Given the description of an element on the screen output the (x, y) to click on. 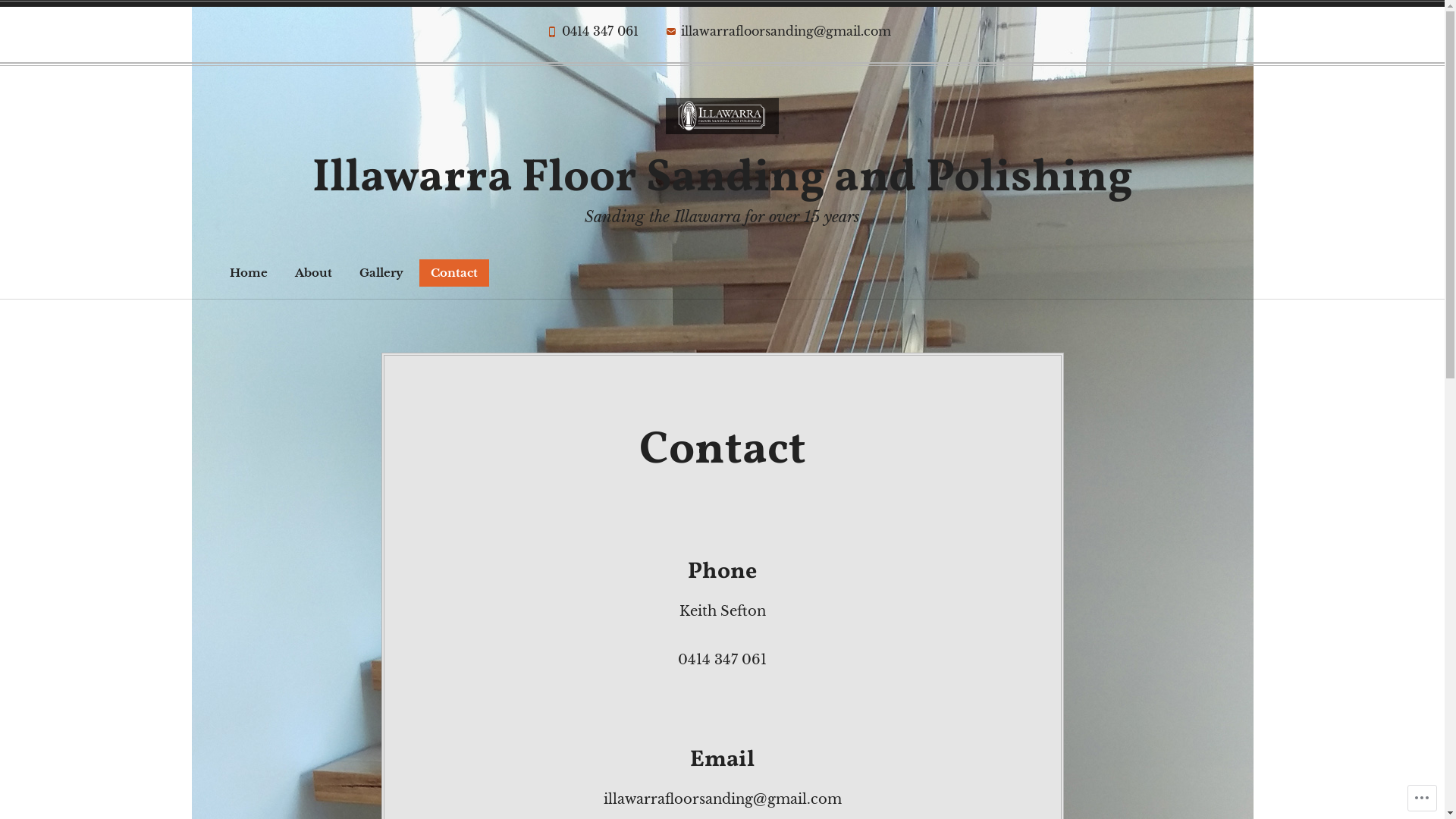
E-mail illawarrafloorsanding@gmail.com Element type: text (777, 34)
Home Element type: text (248, 272)
Phone 0414 347 061 Element type: text (592, 34)
Illawarra Floor Sanding and Polishing Element type: text (722, 178)
Contact Element type: text (453, 272)
About Element type: text (313, 272)
Gallery Element type: text (380, 272)
